Given the description of an element on the screen output the (x, y) to click on. 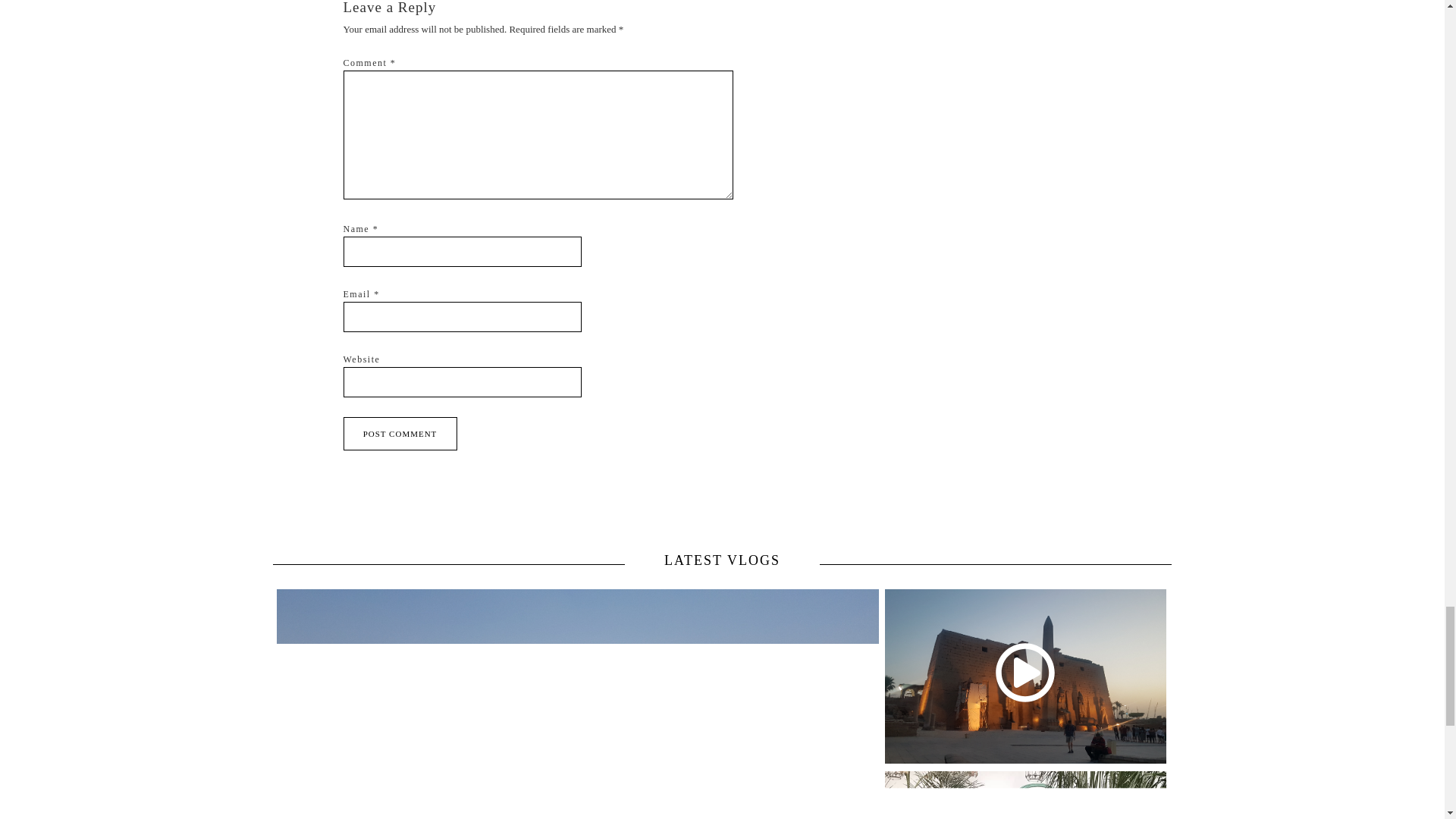
Post Comment (399, 433)
Post Comment (399, 433)
LATEST VLOGS (721, 559)
